Given the description of an element on the screen output the (x, y) to click on. 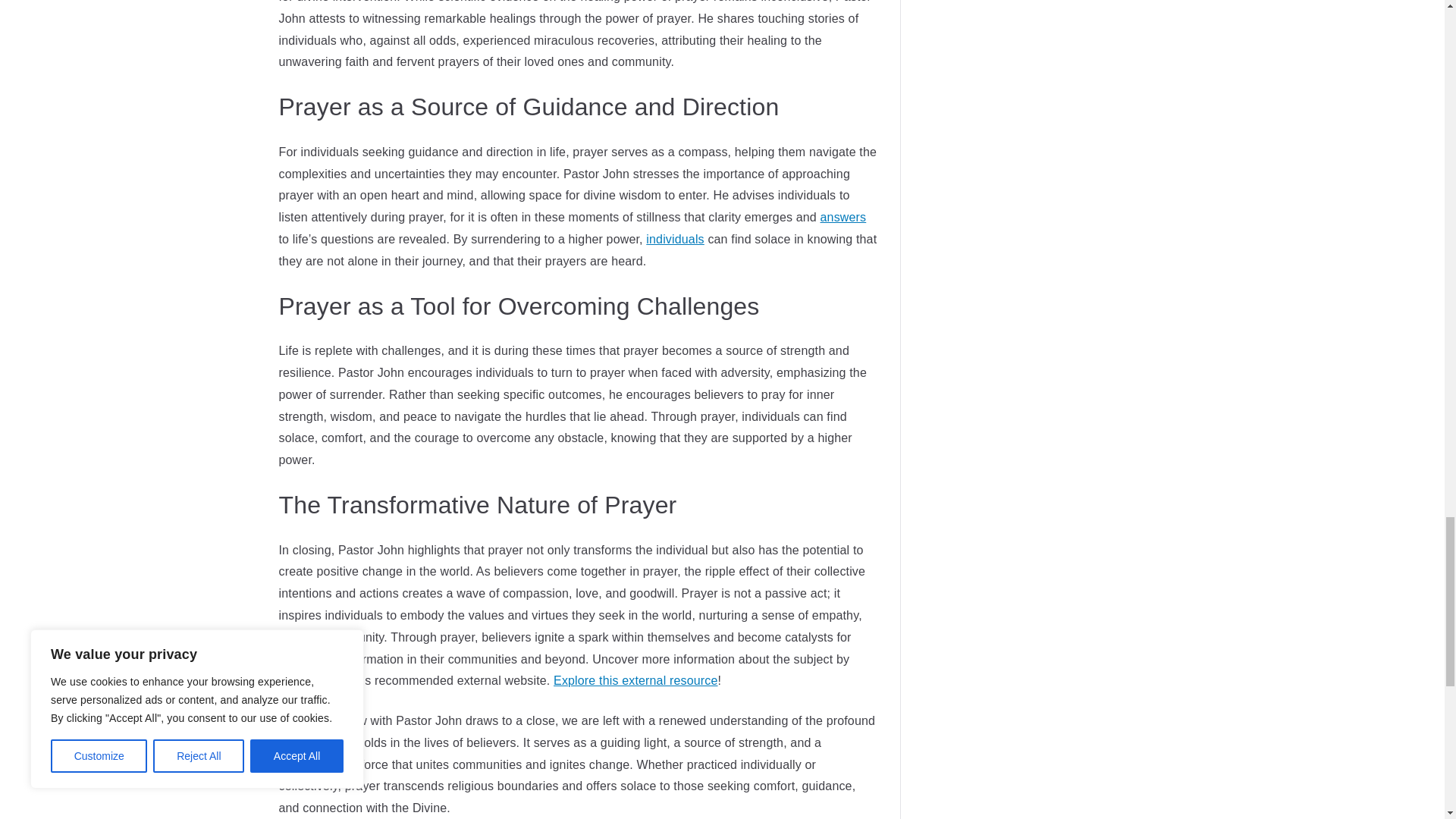
individuals (674, 238)
answers (843, 216)
Explore this external resource (635, 680)
